Given the description of an element on the screen output the (x, y) to click on. 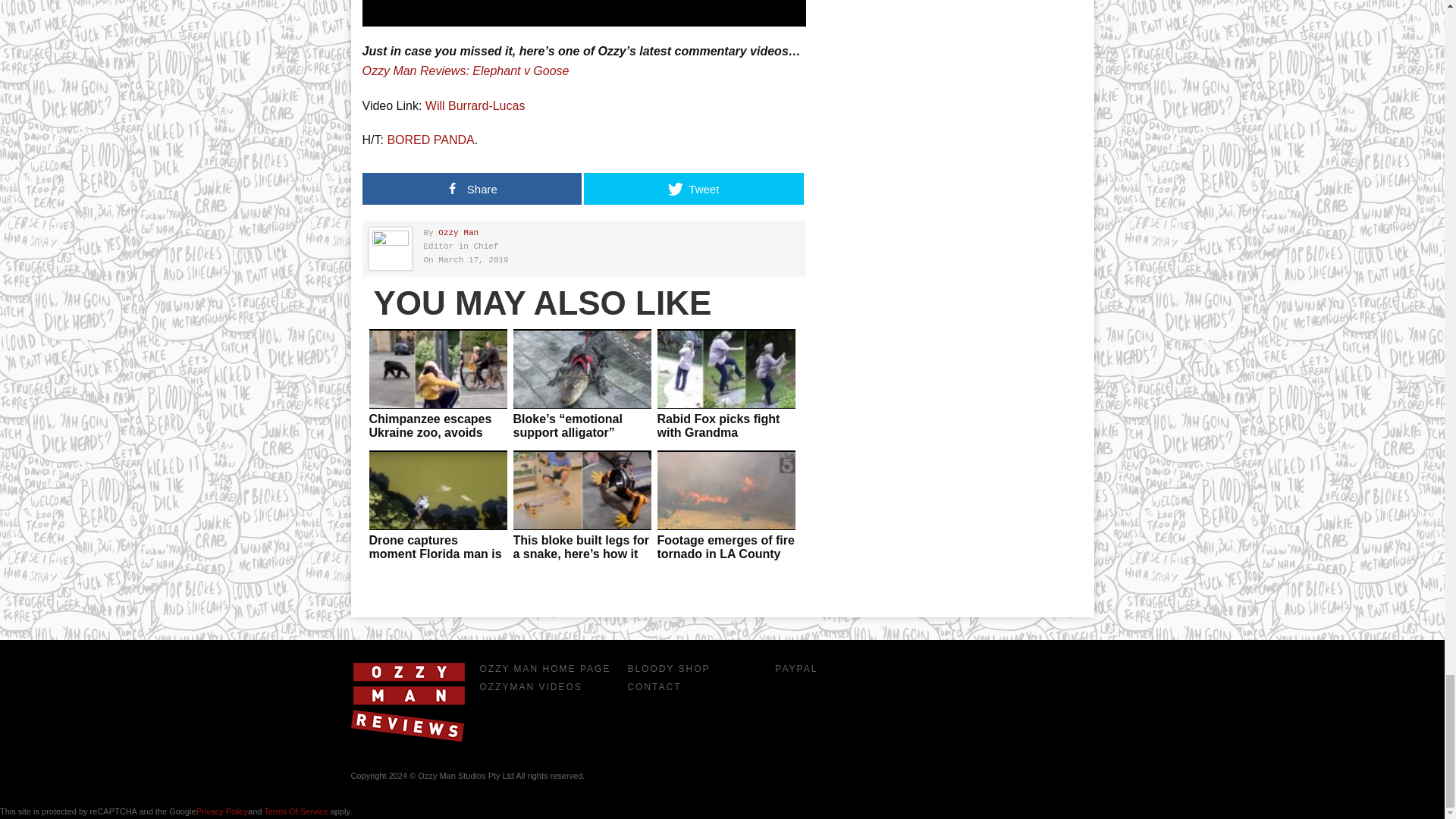
Rabid Fox picks fight with Grandma (717, 425)
Tweet (693, 188)
Permalink to Rabid Fox picks fight with Grandma (717, 425)
Will Burrard-Lucas (475, 105)
Rabid Fox picks fight with Grandma (725, 368)
BORED PANDA (430, 139)
Ozzy Man Reviews: Elephant v Goose (465, 70)
Posts by Ozzy Man (458, 232)
Share (472, 188)
Ozzy Man (458, 232)
